Given the description of an element on the screen output the (x, y) to click on. 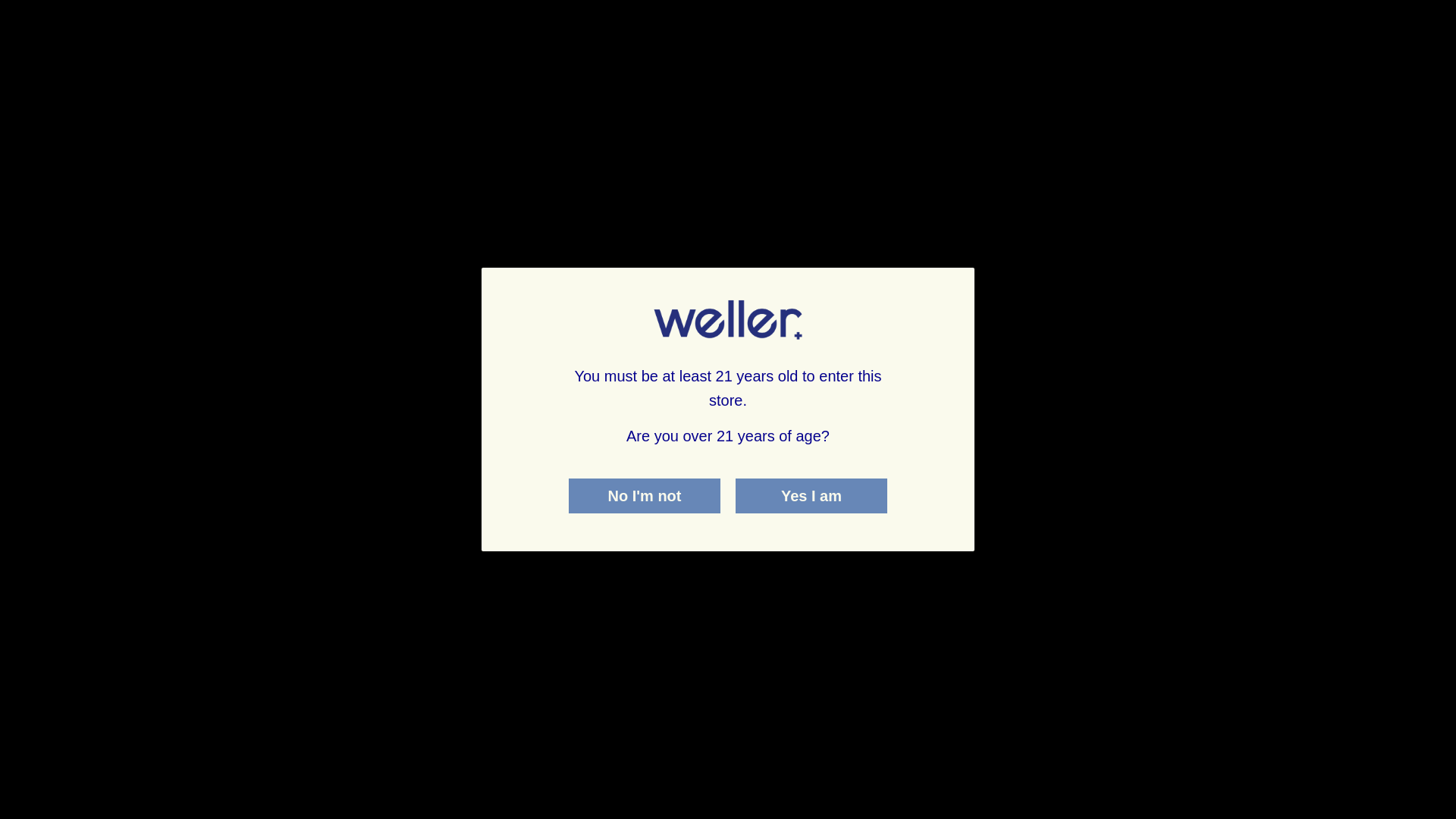
Subscribe (168, 532)
